Given the description of an element on the screen output the (x, y) to click on. 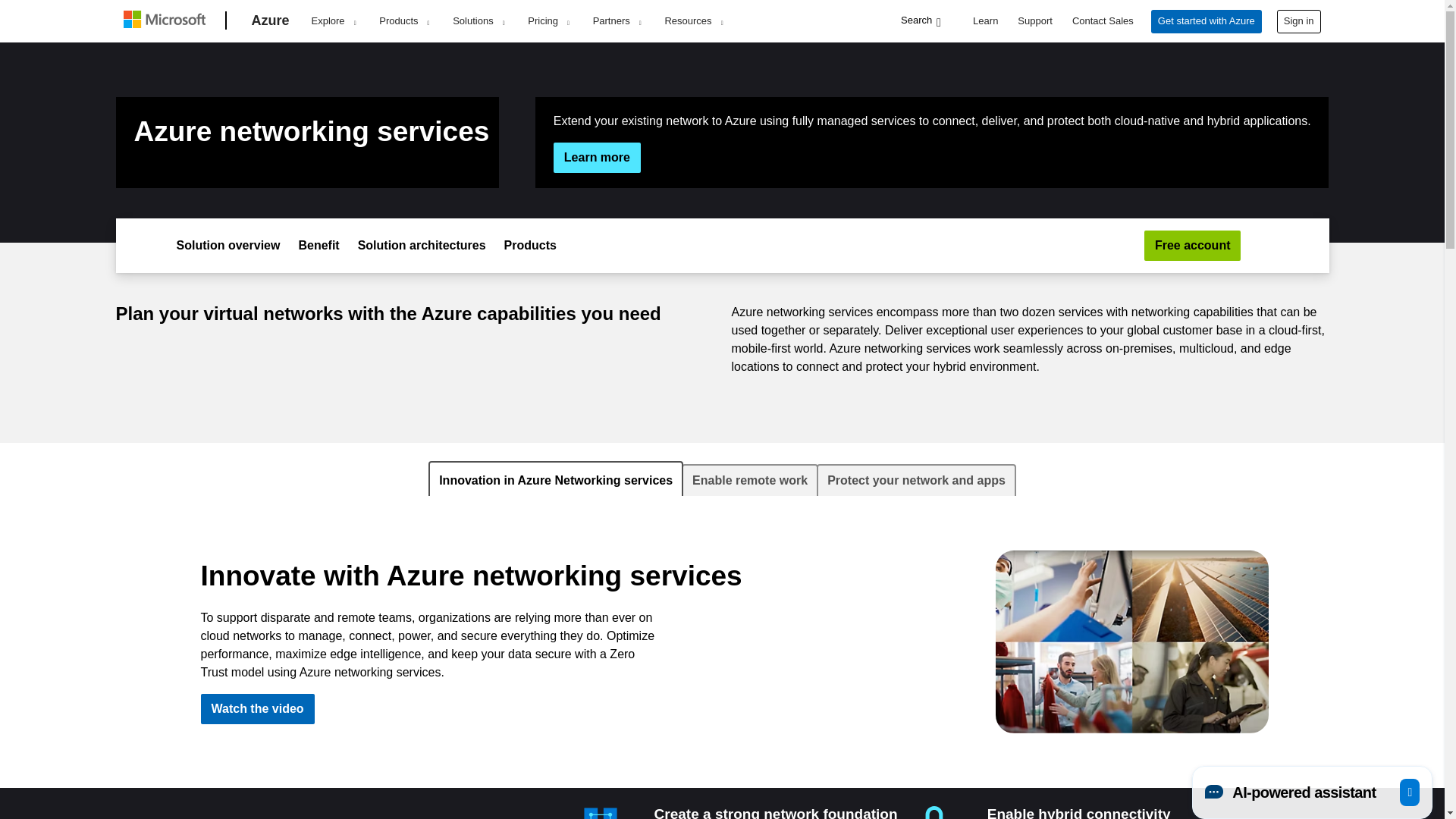
Products (403, 20)
Azure (270, 20)
Microsoft (167, 20)
Explore (333, 20)
